Given the description of an element on the screen output the (x, y) to click on. 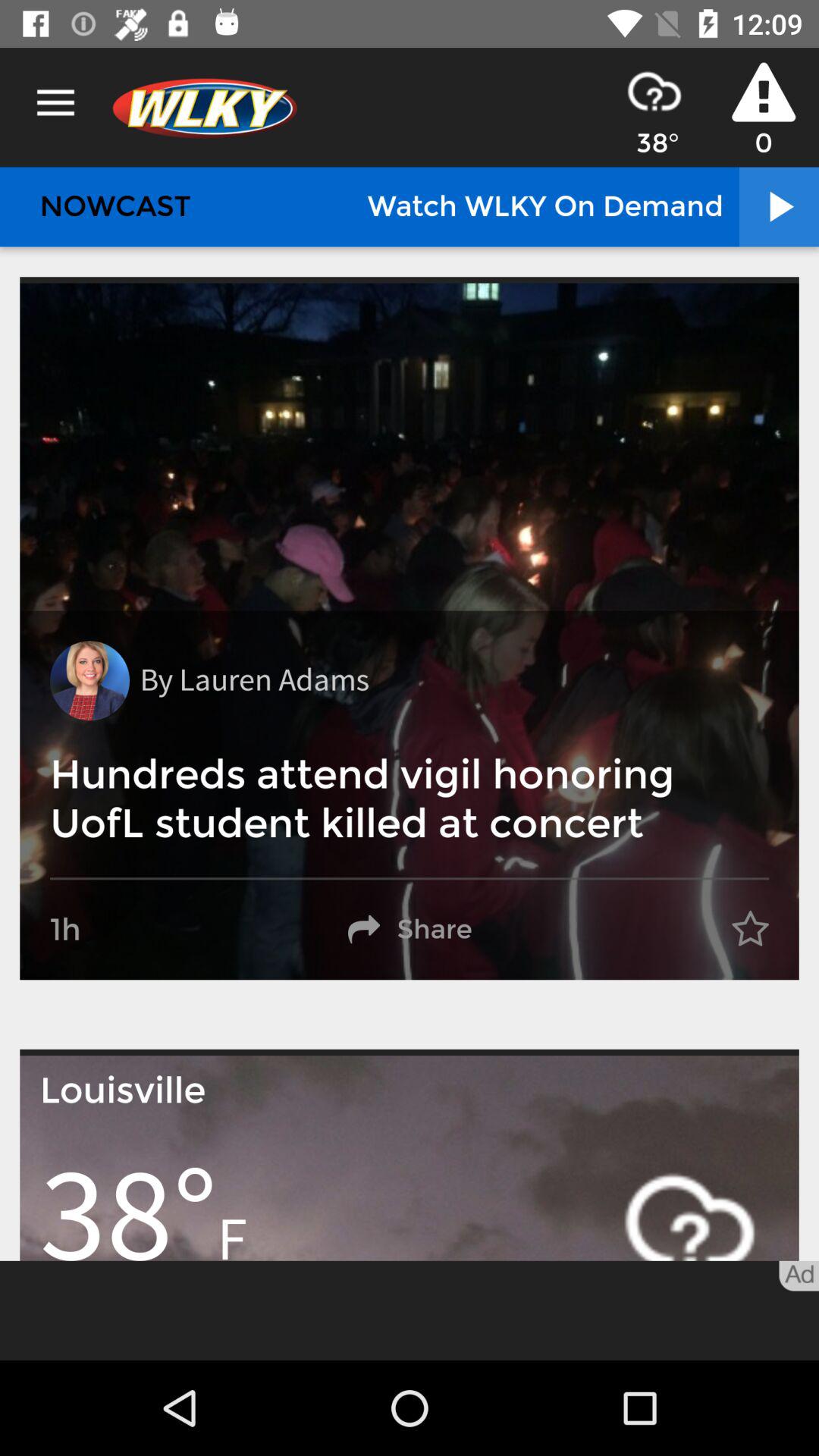
visit advertisement page (409, 1310)
